Given the description of an element on the screen output the (x, y) to click on. 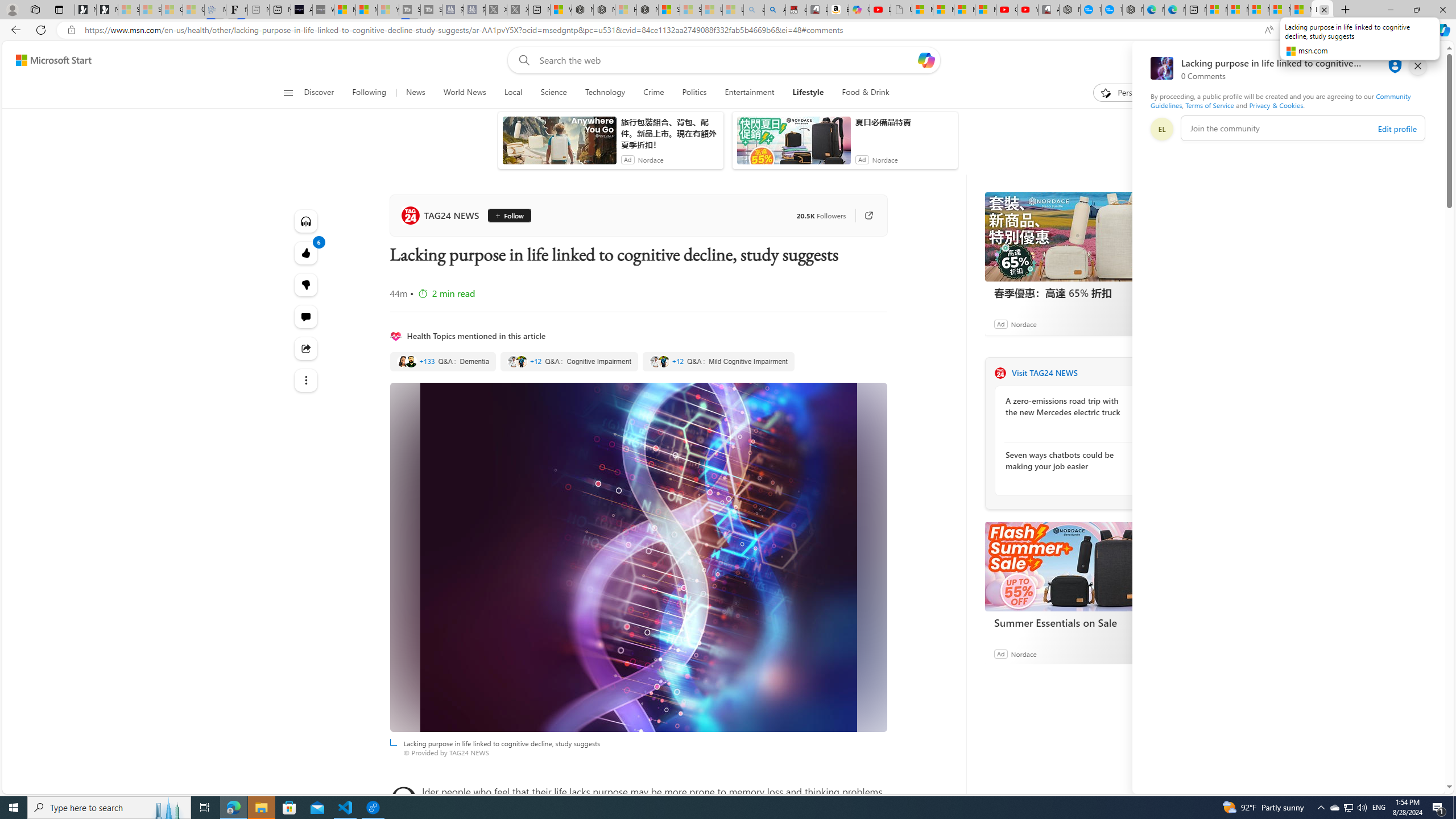
Open navigation menu (287, 92)
Crime (653, 92)
Crime (653, 92)
Follow (505, 215)
Food & Drink (865, 92)
